Given the description of an element on the screen output the (x, y) to click on. 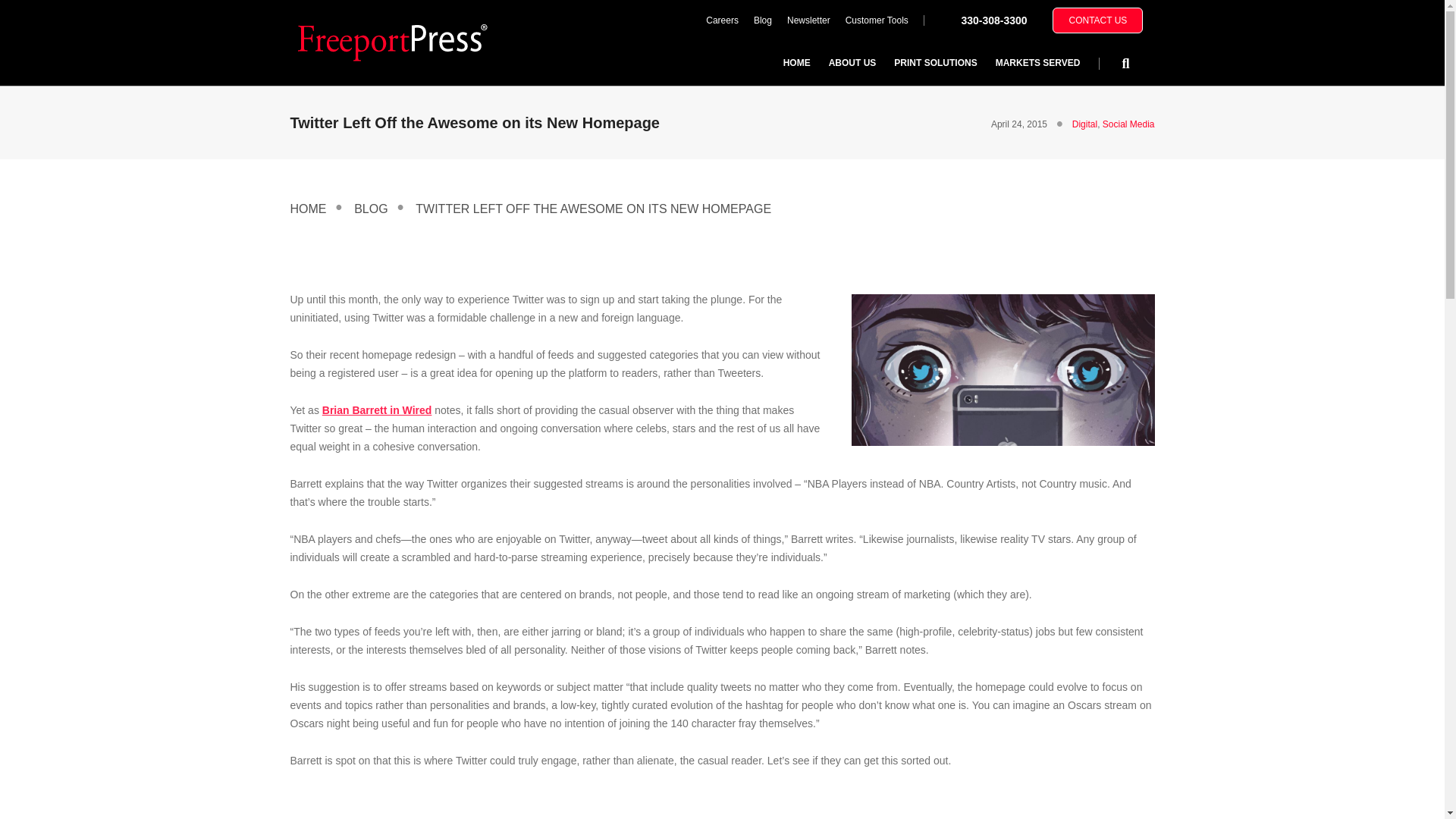
Careers (721, 20)
CONTACT US (1097, 20)
HOME (796, 62)
PRINT SOLUTIONS (935, 62)
330-308-3300 (993, 20)
Blog (761, 20)
ABOUT US (852, 62)
Customer Tools (876, 20)
MARKETS SERVED (1038, 62)
Newsletter (808, 20)
